Given the description of an element on the screen output the (x, y) to click on. 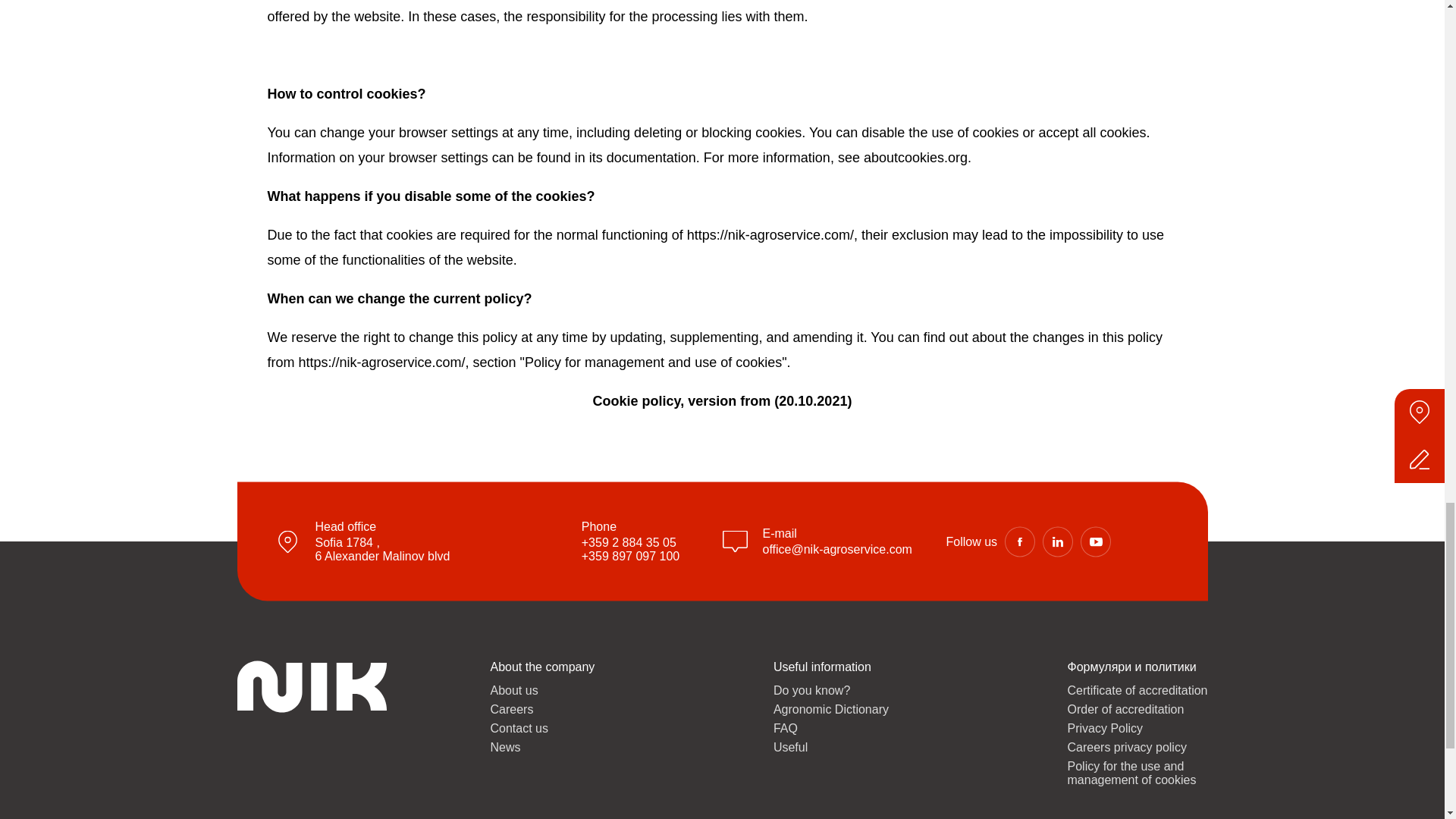
Careers (541, 709)
Agronomic Dictionary (830, 709)
Do you know? (830, 690)
News (541, 747)
About us (541, 690)
FAQ (382, 549)
Privacy Policy (830, 728)
Useful (1137, 728)
Certificate of accreditation (830, 747)
